Given the description of an element on the screen output the (x, y) to click on. 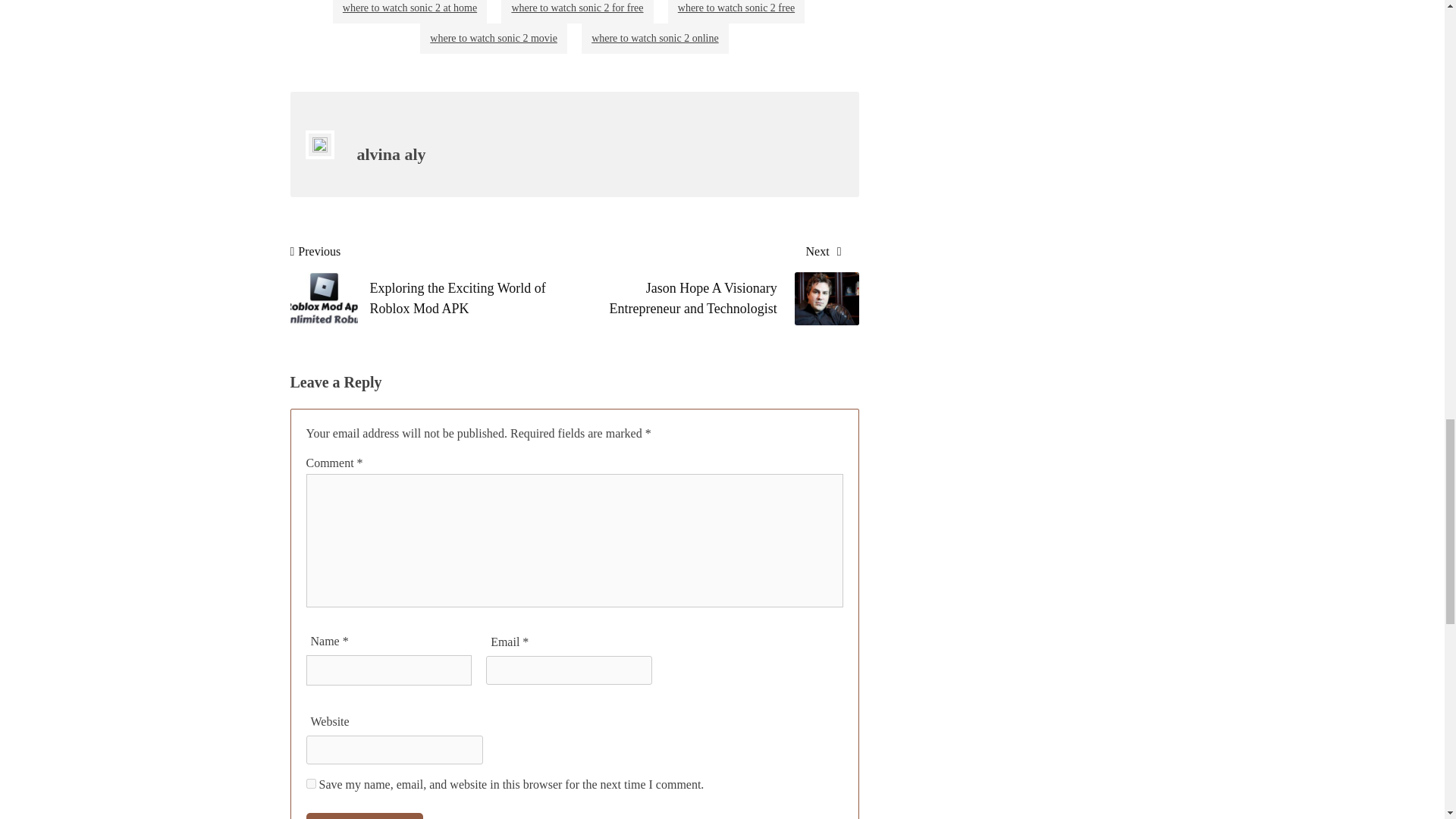
Post Comment (364, 816)
where to watch sonic 2 for free (576, 11)
where to watch sonic 2 at home (410, 11)
yes (310, 783)
